Given the description of an element on the screen output the (x, y) to click on. 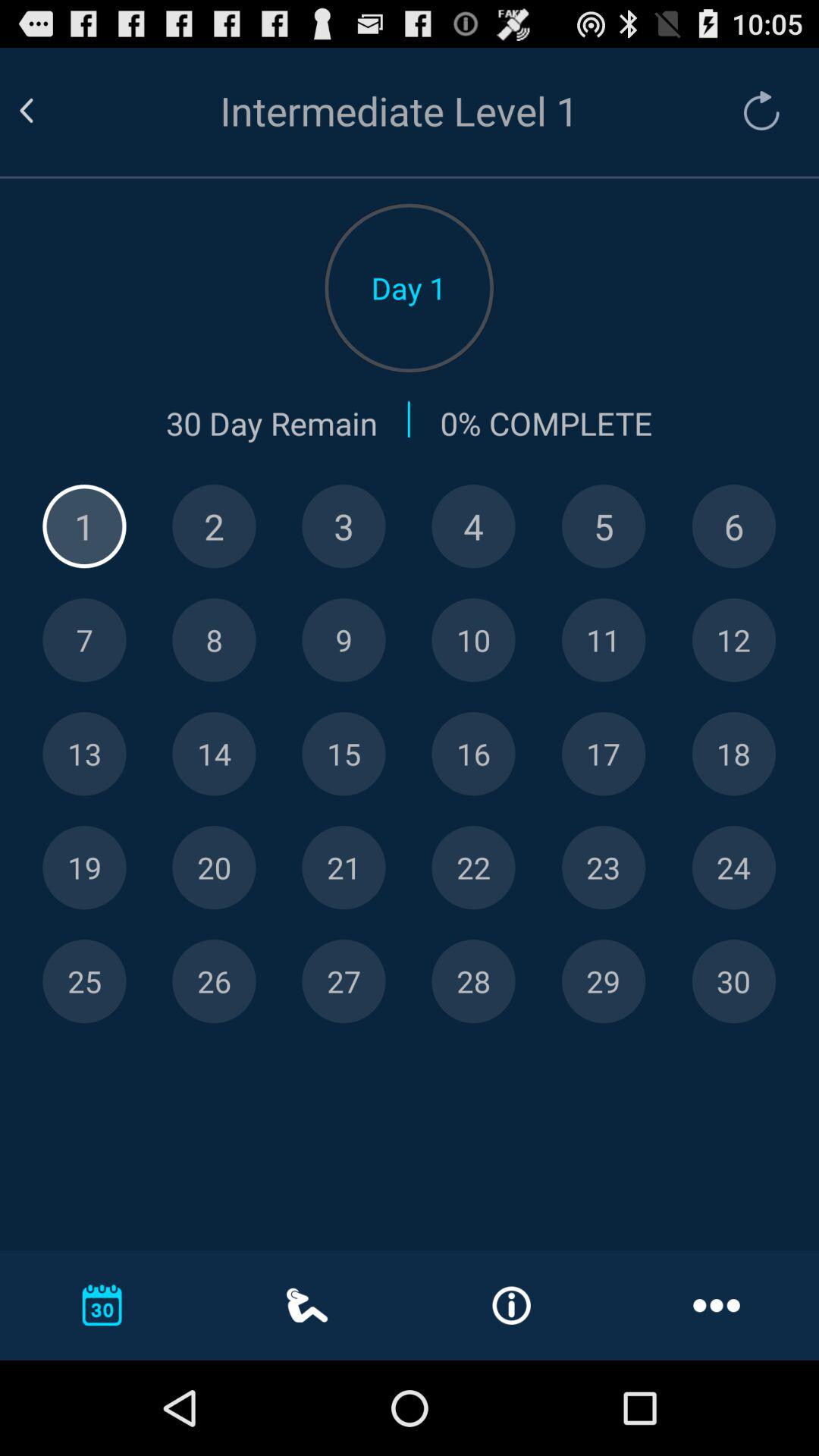
number twenty (213, 867)
